Given the description of an element on the screen output the (x, y) to click on. 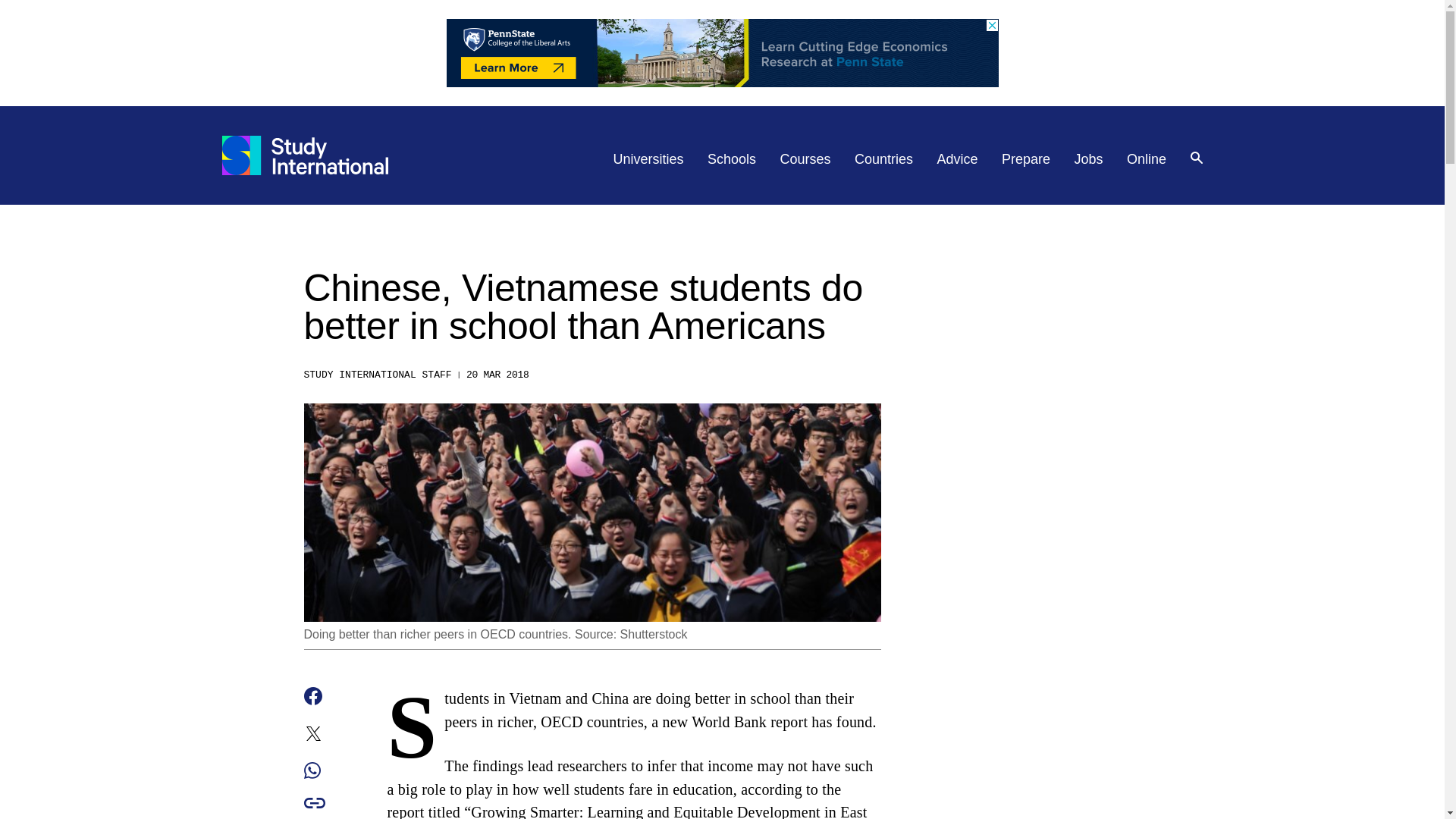
Prepare (1025, 159)
Schools (731, 159)
Advice (957, 159)
Jobs (1088, 159)
Online (1146, 159)
Universities (648, 159)
Courses (805, 159)
3rd party ad content (721, 52)
Countries (883, 159)
STUDY INTERNATIONAL STAFF (376, 374)
